Given the description of an element on the screen output the (x, y) to click on. 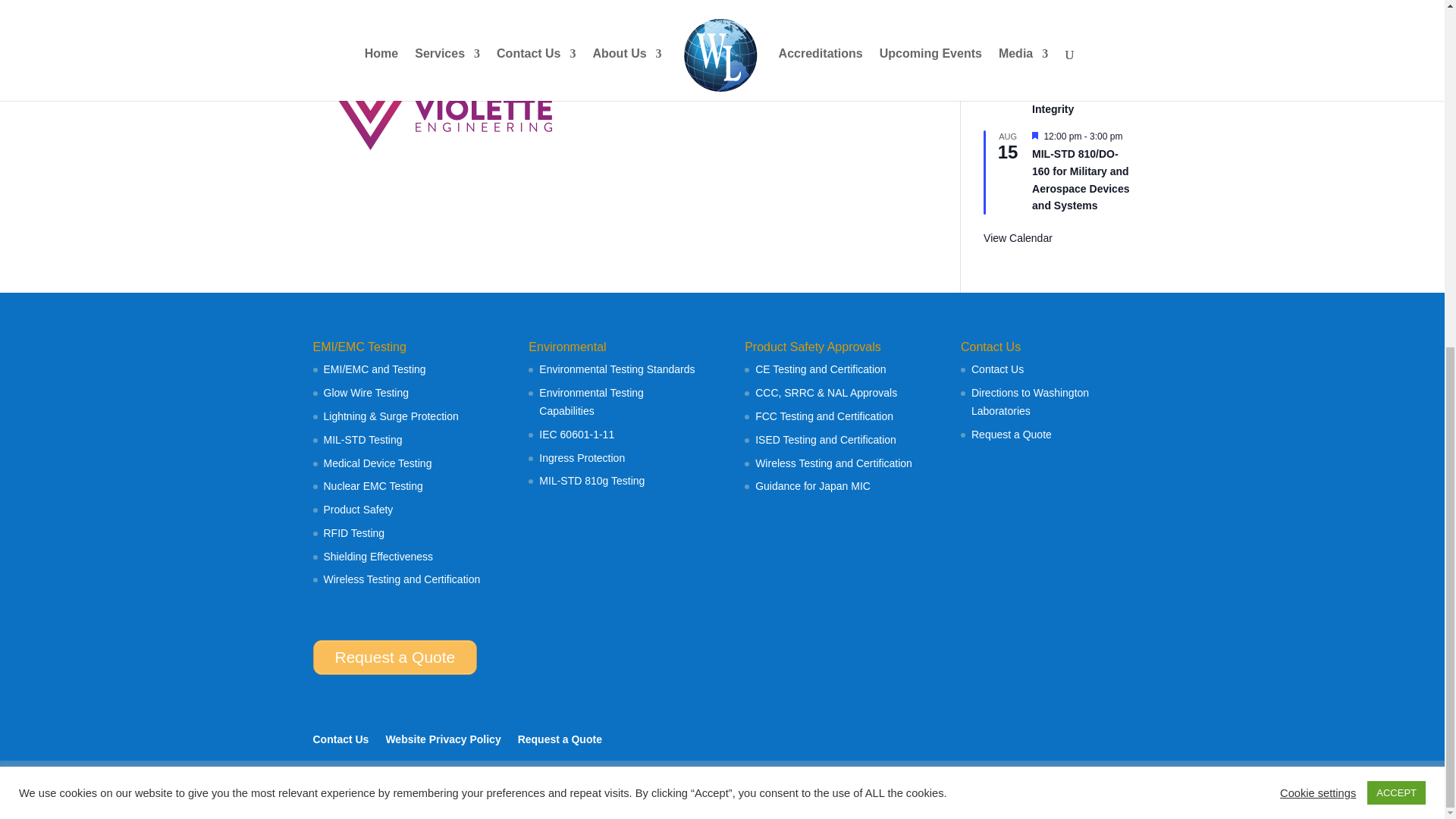
View more events. (1018, 237)
